Given the description of an element on the screen output the (x, y) to click on. 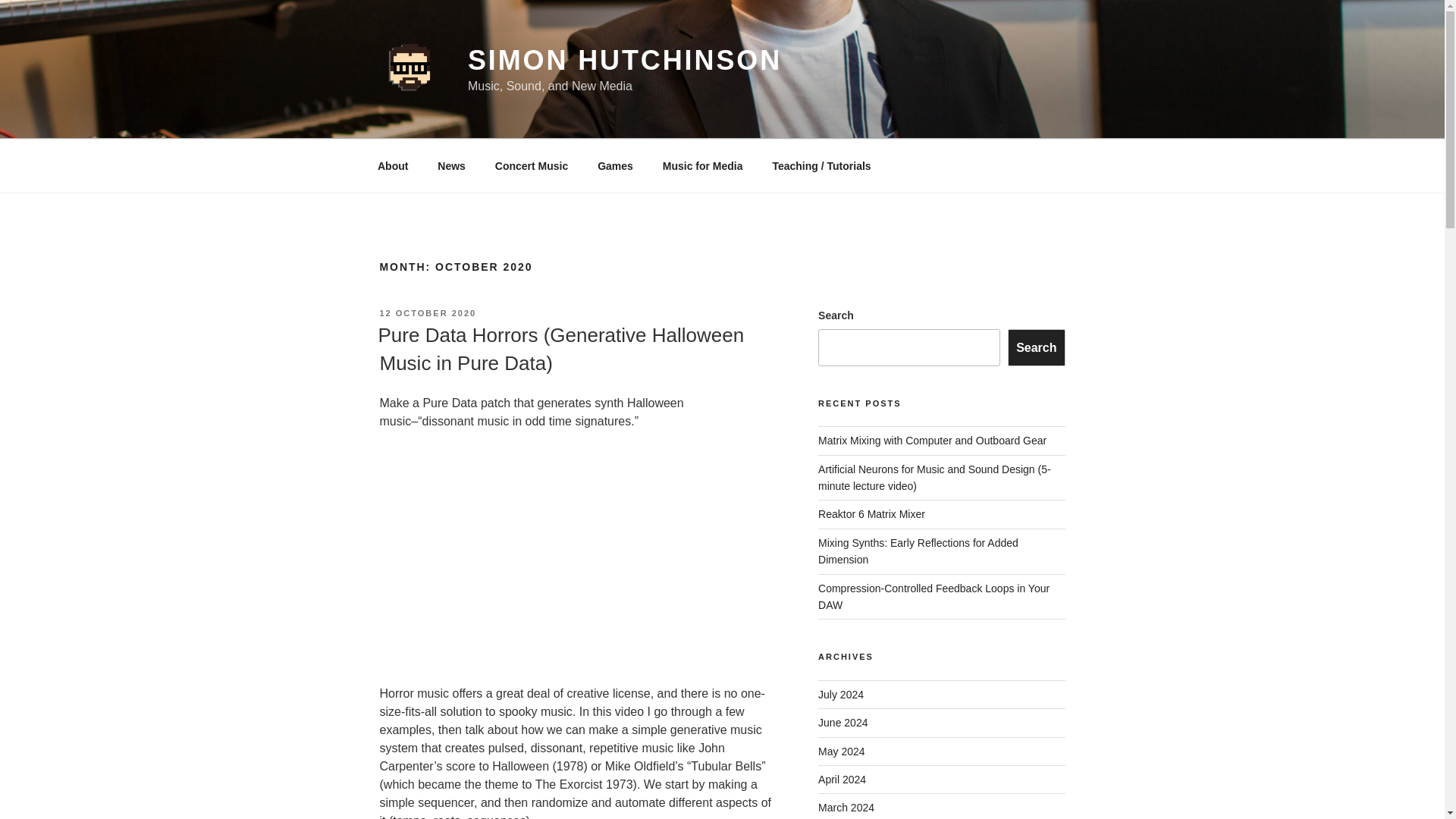
May 2024 (841, 751)
Search (1035, 347)
Compression-Controlled Feedback Loops in Your DAW (933, 596)
Reaktor 6 Matrix Mixer (871, 513)
July 2024 (840, 694)
Games (615, 165)
June 2024 (842, 722)
12 OCTOBER 2020 (427, 312)
News (452, 165)
SIMON HUTCHINSON (624, 60)
About (392, 165)
Mixing Synths: Early Reflections for Added Dimension (917, 551)
March 2024 (846, 807)
Concert Music (530, 165)
Music for Media (702, 165)
